Given the description of an element on the screen output the (x, y) to click on. 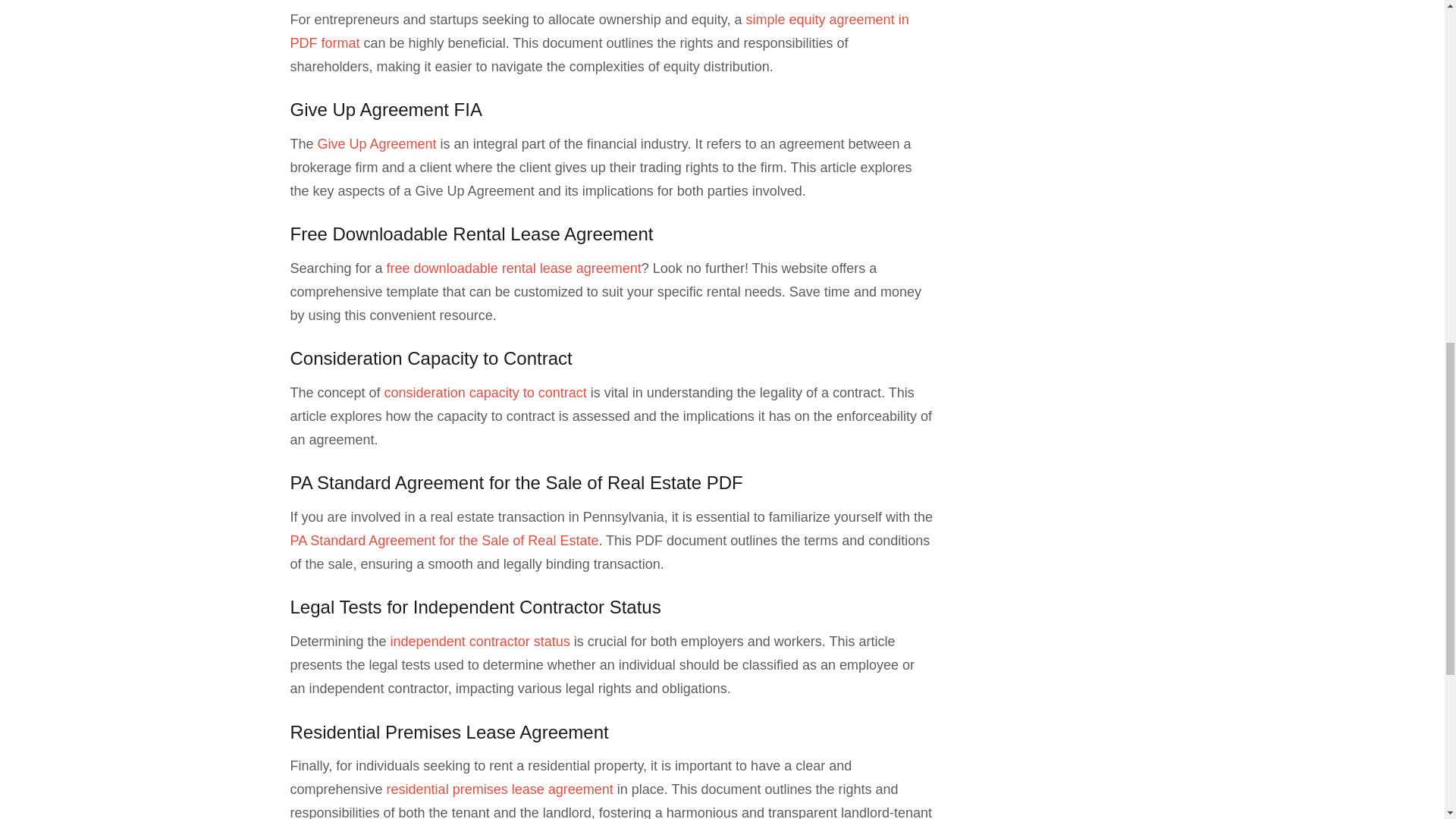
PA Standard Agreement for the Sale of Real Estate (443, 540)
consideration capacity to contract (485, 392)
independent contractor status (480, 641)
simple equity agreement in PDF format (598, 31)
free downloadable rental lease agreement (514, 268)
Give Up Agreement (376, 143)
residential premises lease agreement (499, 789)
